Given the description of an element on the screen output the (x, y) to click on. 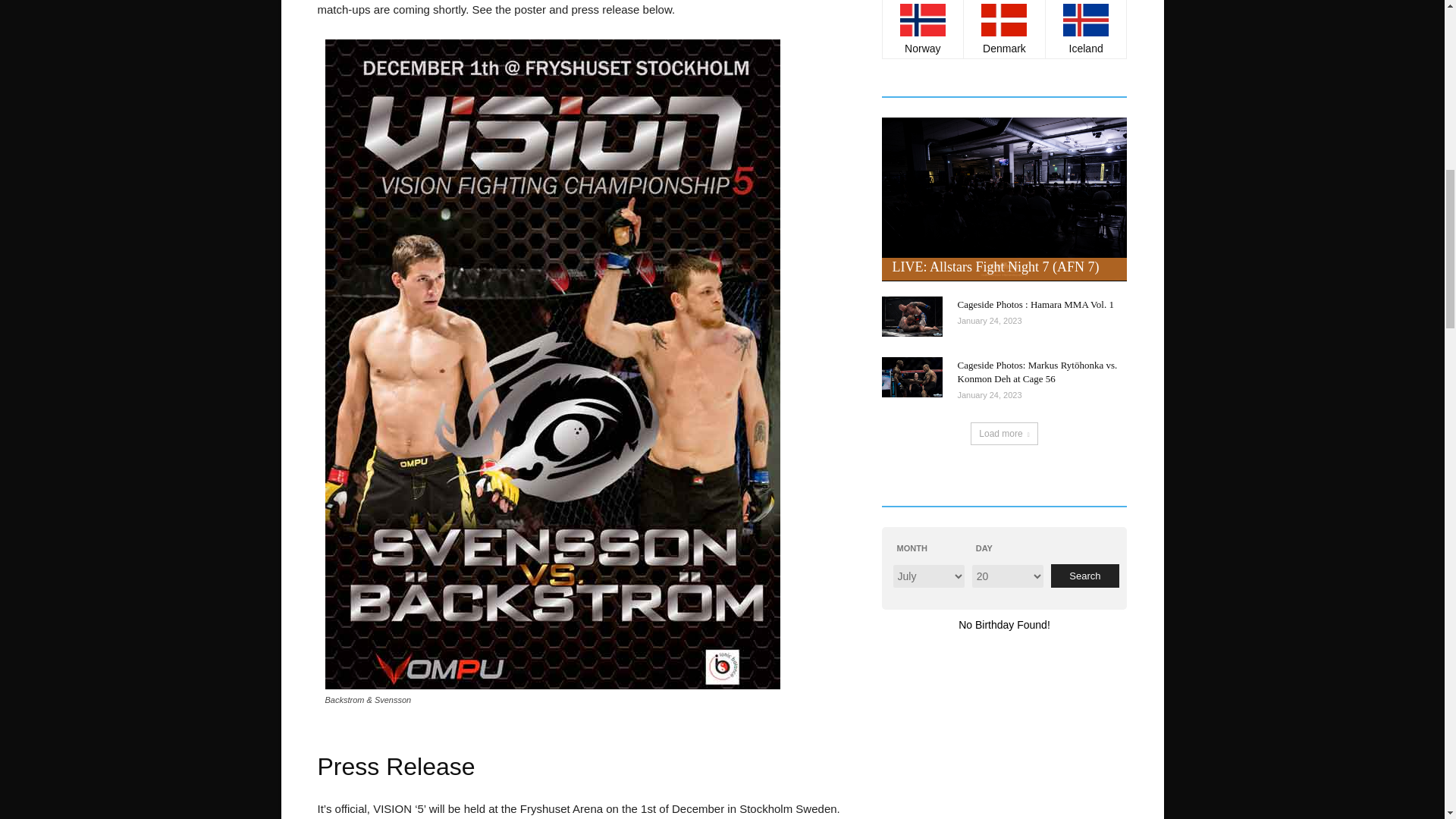
Search (1085, 576)
